Given the description of an element on the screen output the (x, y) to click on. 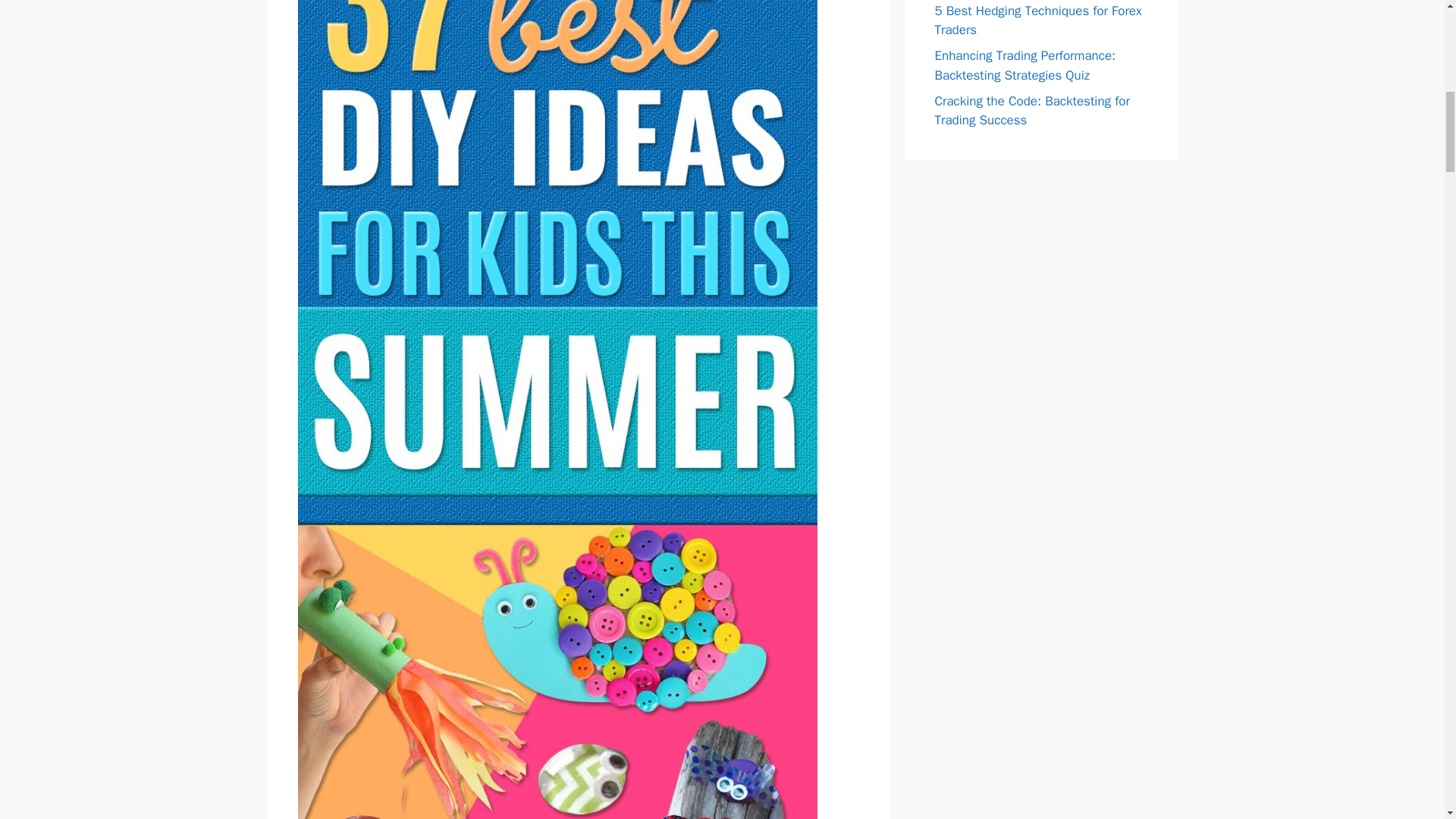
5 Best Hedging Techniques for Forex Traders (1037, 20)
Cracking the Code: Backtesting for Trading Success (1031, 109)
Enhancing Trading Performance: Backtesting Strategies Quiz (1024, 65)
